Given the description of an element on the screen output the (x, y) to click on. 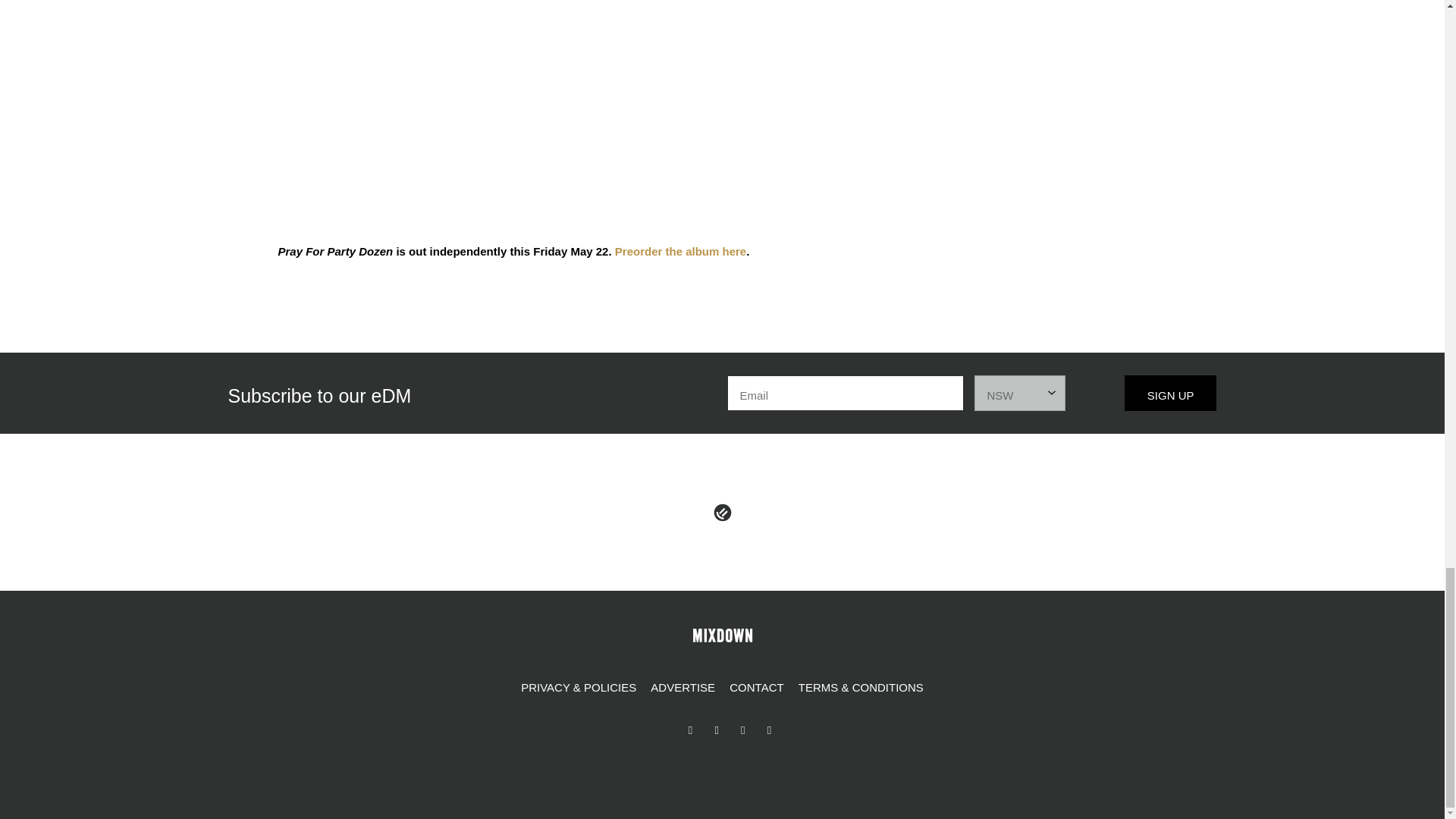
Preorder the album here (679, 250)
SIGN UP (1170, 393)
CONTACT (756, 687)
ADVERTISE (682, 687)
